Given the description of an element on the screen output the (x, y) to click on. 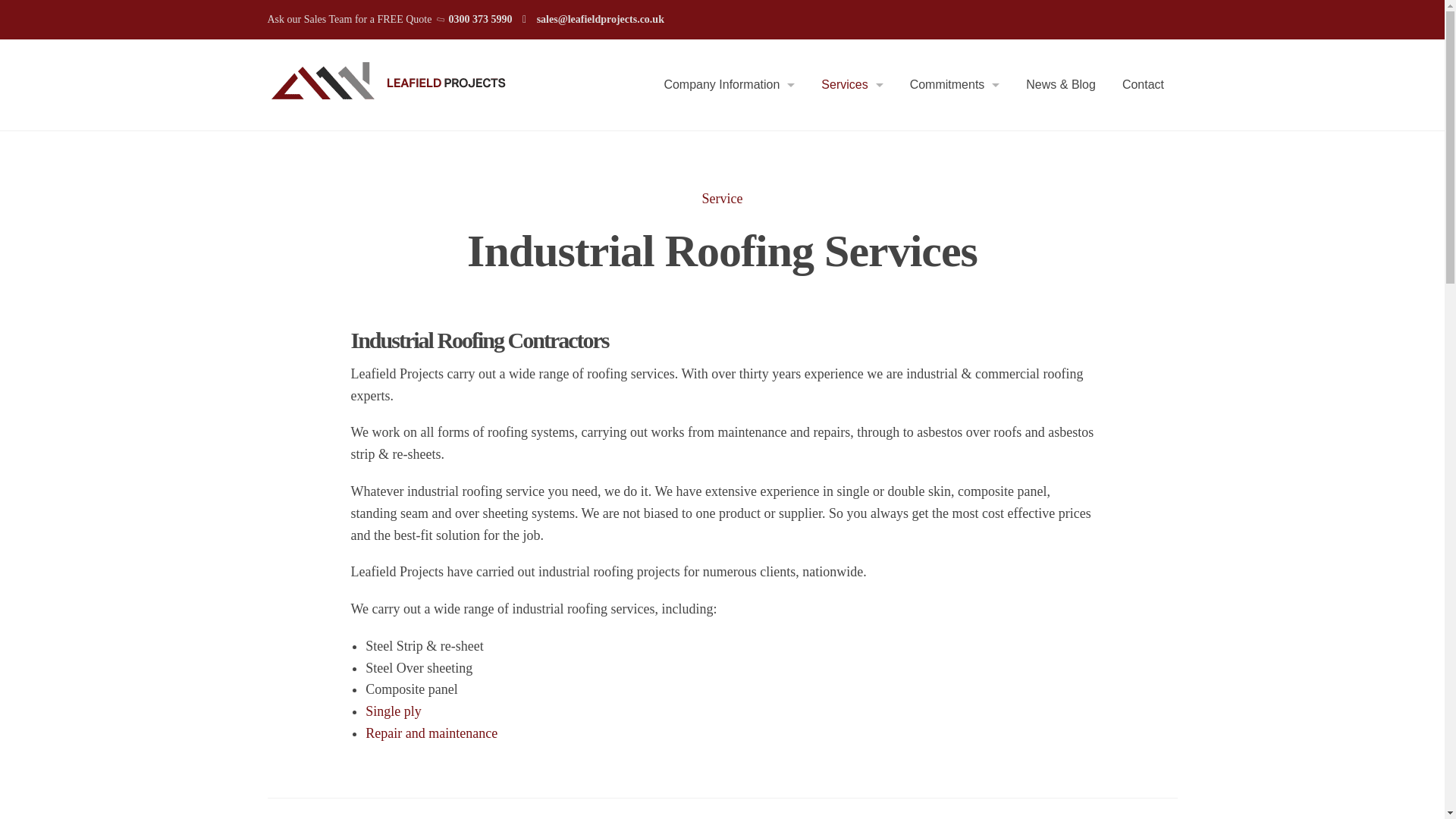
Felt Roofing (808, 297)
Contact (1142, 84)
Repair and maintenance (431, 733)
About Us (650, 137)
Single Ply Roofing (808, 402)
Commitments (954, 84)
Testimonials (650, 244)
Industrial Cladding (808, 244)
Services (852, 84)
Health and Safety (895, 137)
Maintenance (808, 456)
Environmental (895, 190)
Industrial Roofing (808, 137)
Roof Access Equipment (808, 615)
Industrial Guttering (808, 349)
